Given the description of an element on the screen output the (x, y) to click on. 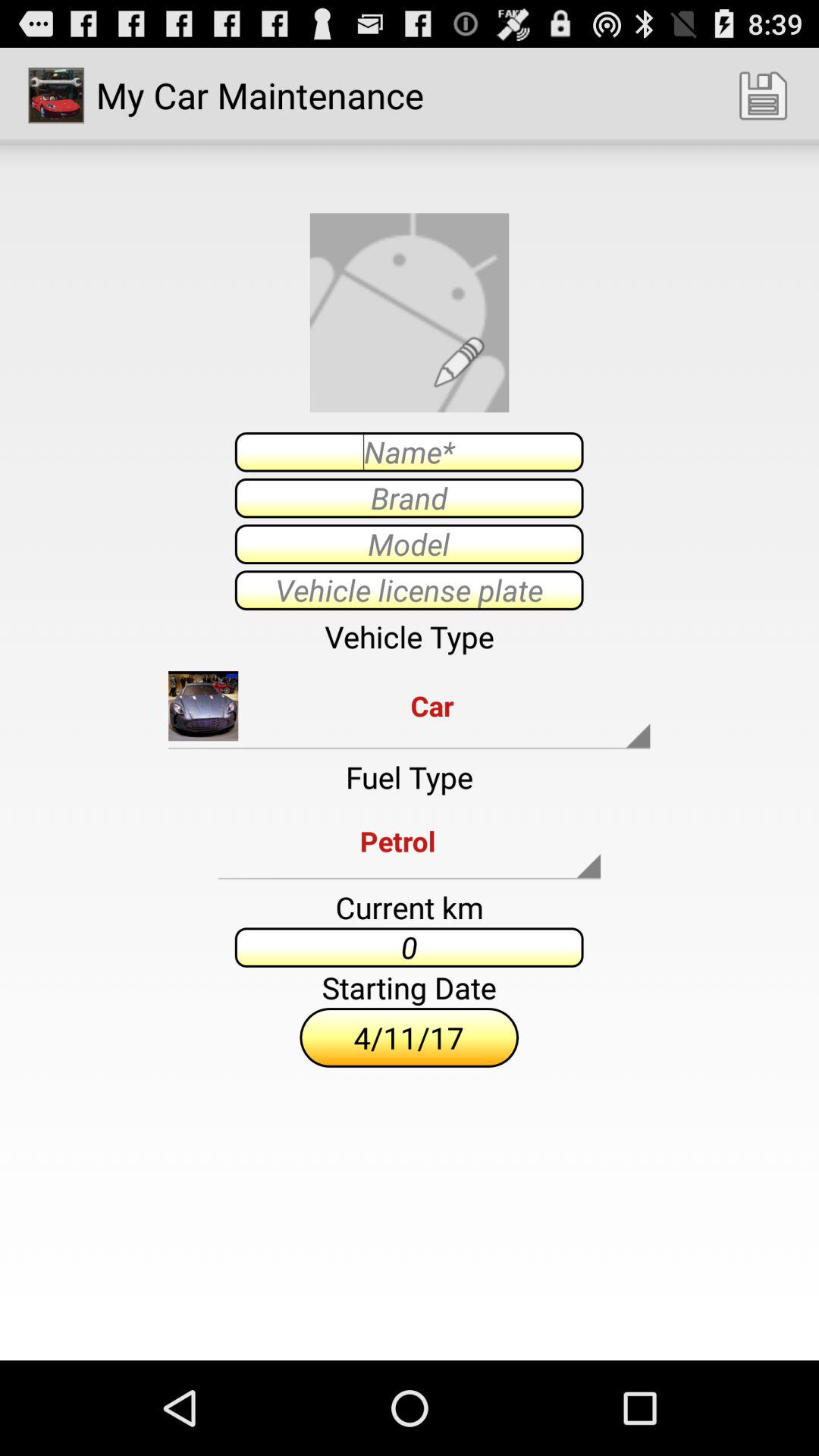
selected button (408, 544)
